Given the description of an element on the screen output the (x, y) to click on. 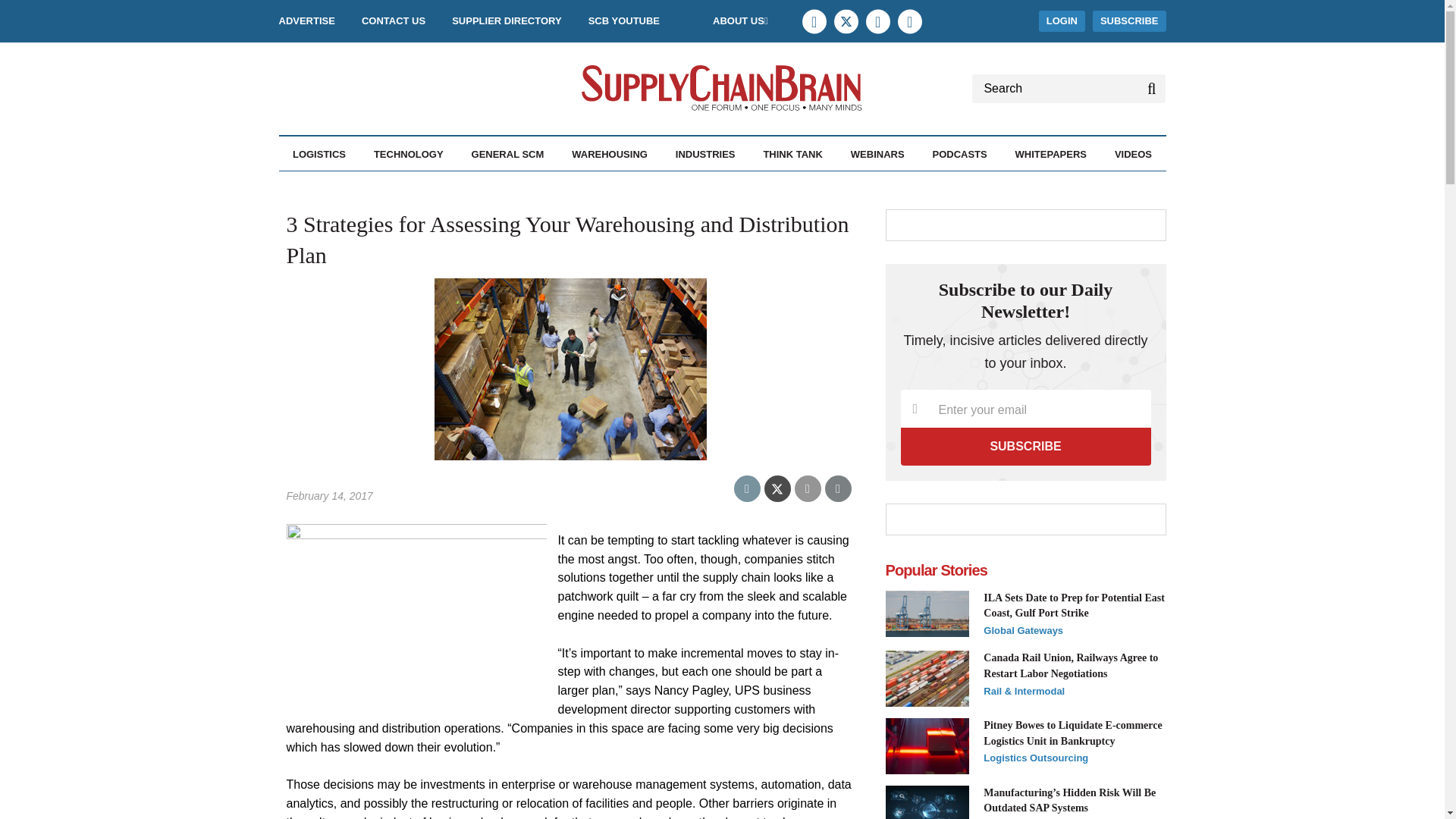
Subscribe (1026, 446)
PITNEY BOWES PACKAGE PARCEL BLOOMBERG.jpg (927, 745)
sap-software-manufacturing-iStock-1700731268.jpg (927, 802)
canada-rail-freight-iStock-115879251.jpg (927, 678)
port-of-baltimore-iStock-1299521189.jpg (927, 614)
